Given the description of an element on the screen output the (x, y) to click on. 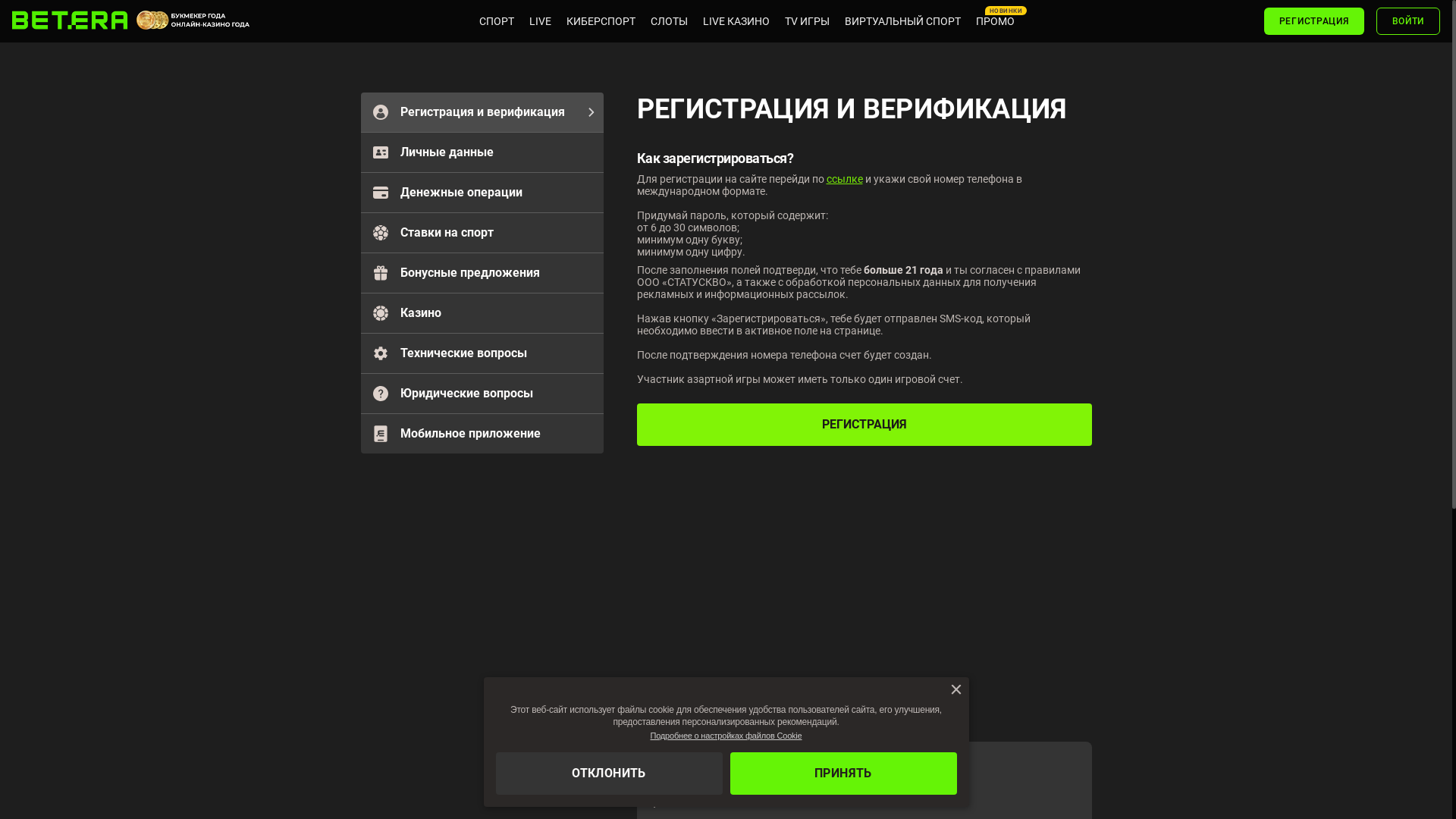
storage Element type: hover (0, 0)
LIVE Element type: text (421, 21)
YouTube video player Element type: hover (864, 589)
